Given the description of an element on the screen output the (x, y) to click on. 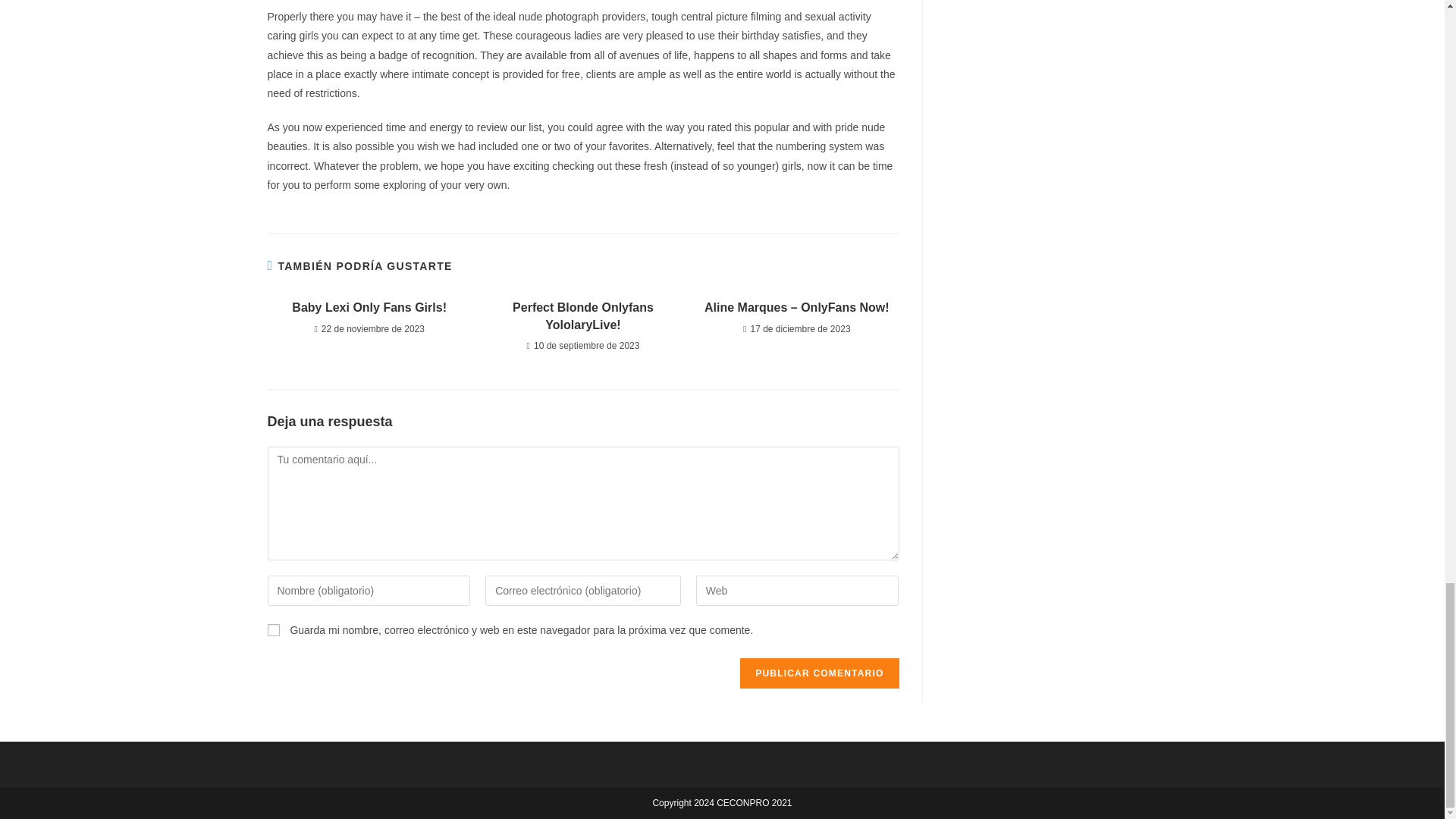
Baby Lexi Only Fans Girls! (368, 307)
Perfect Blonde Onlyfans YololaryLive! (582, 316)
yes (272, 630)
Publicar comentario (818, 673)
Publicar comentario (818, 673)
